Given the description of an element on the screen output the (x, y) to click on. 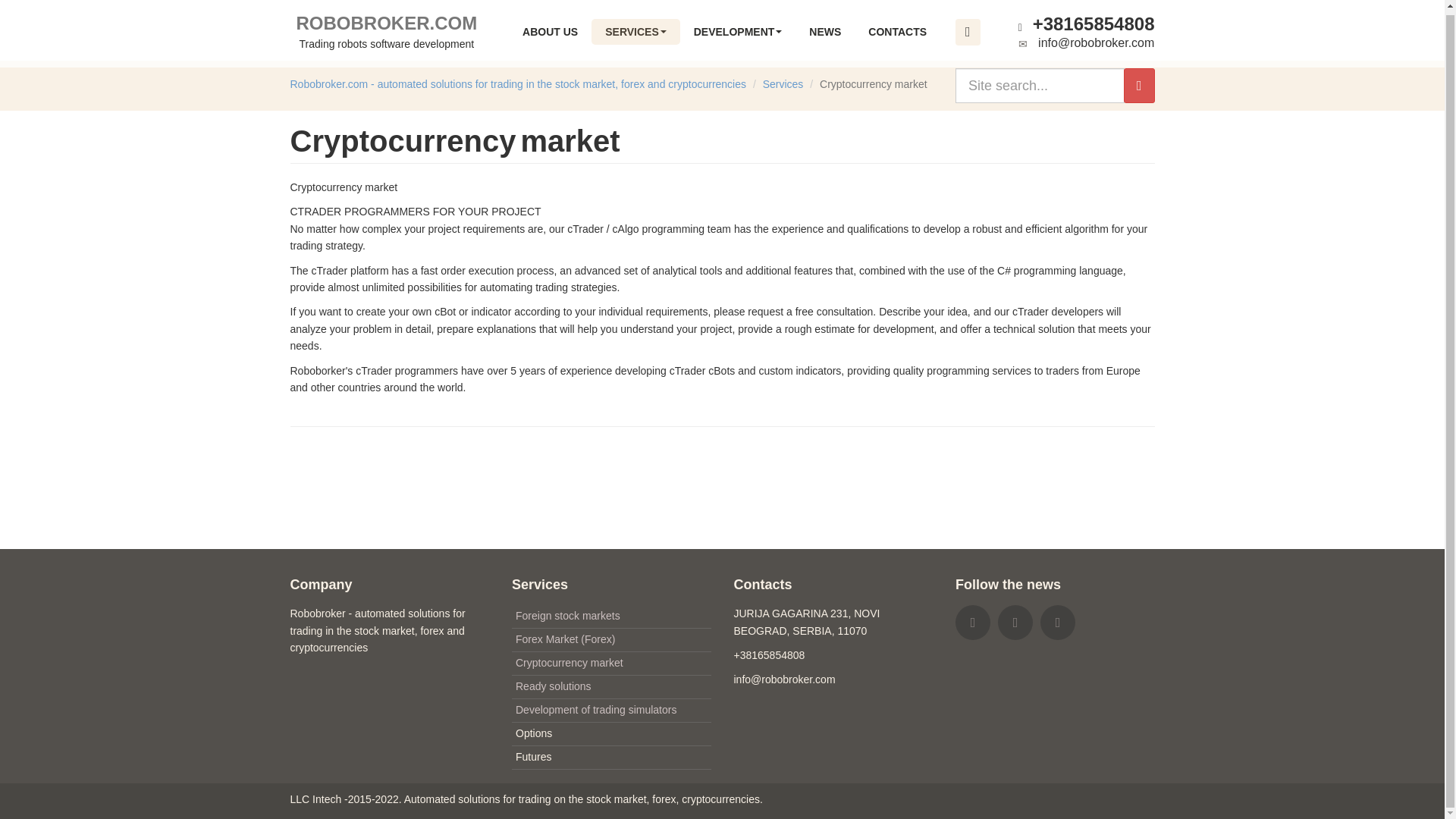
SERVICES (635, 27)
ABOUT US (387, 30)
NEWS (549, 27)
DEVELOPMENT (824, 27)
